Given the description of an element on the screen output the (x, y) to click on. 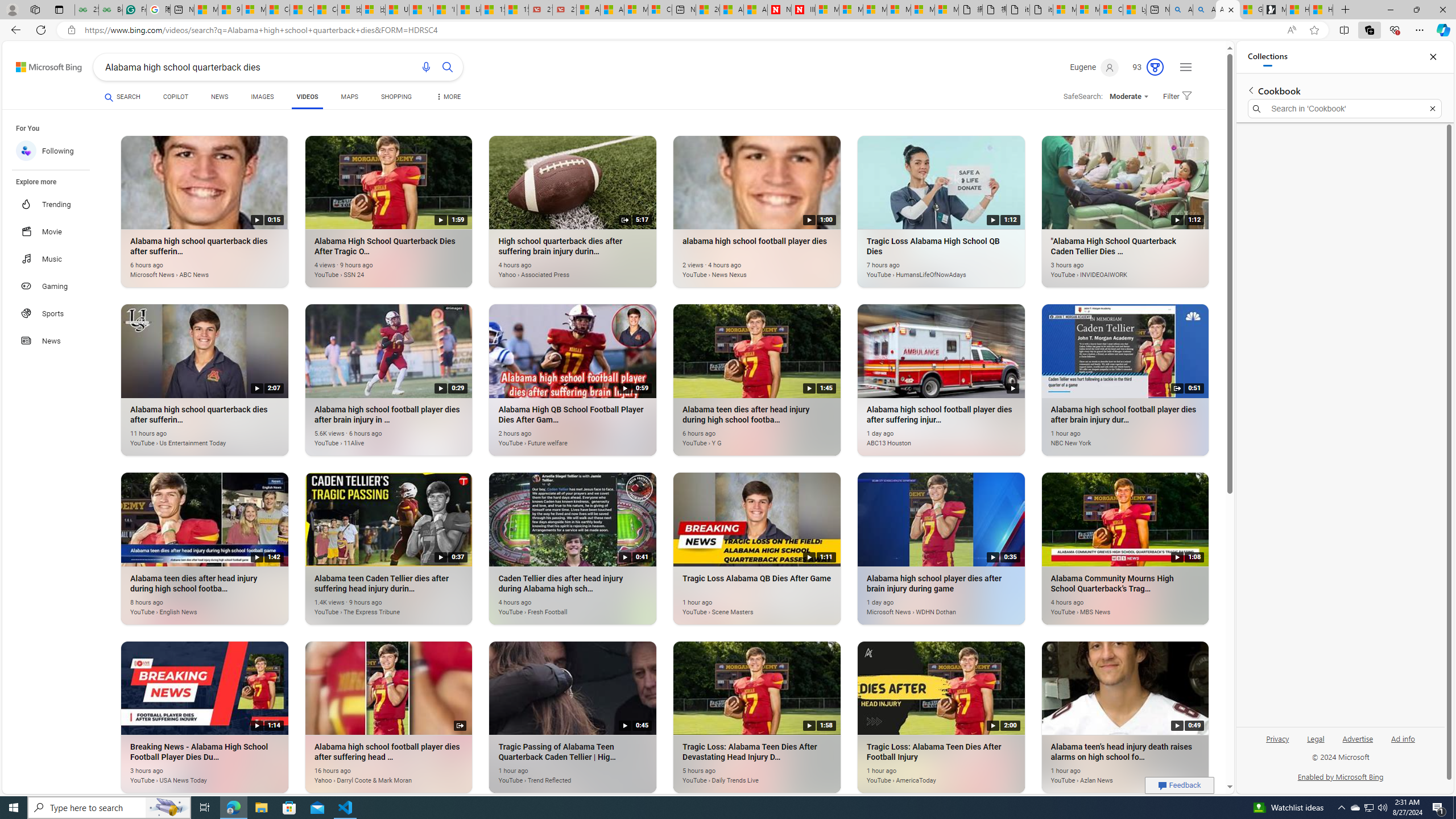
Alabama high school quarterback dies - Search Videos (1227, 9)
Dropdown Menu (447, 96)
Settings and quick links (1185, 67)
